Given the description of an element on the screen output the (x, y) to click on. 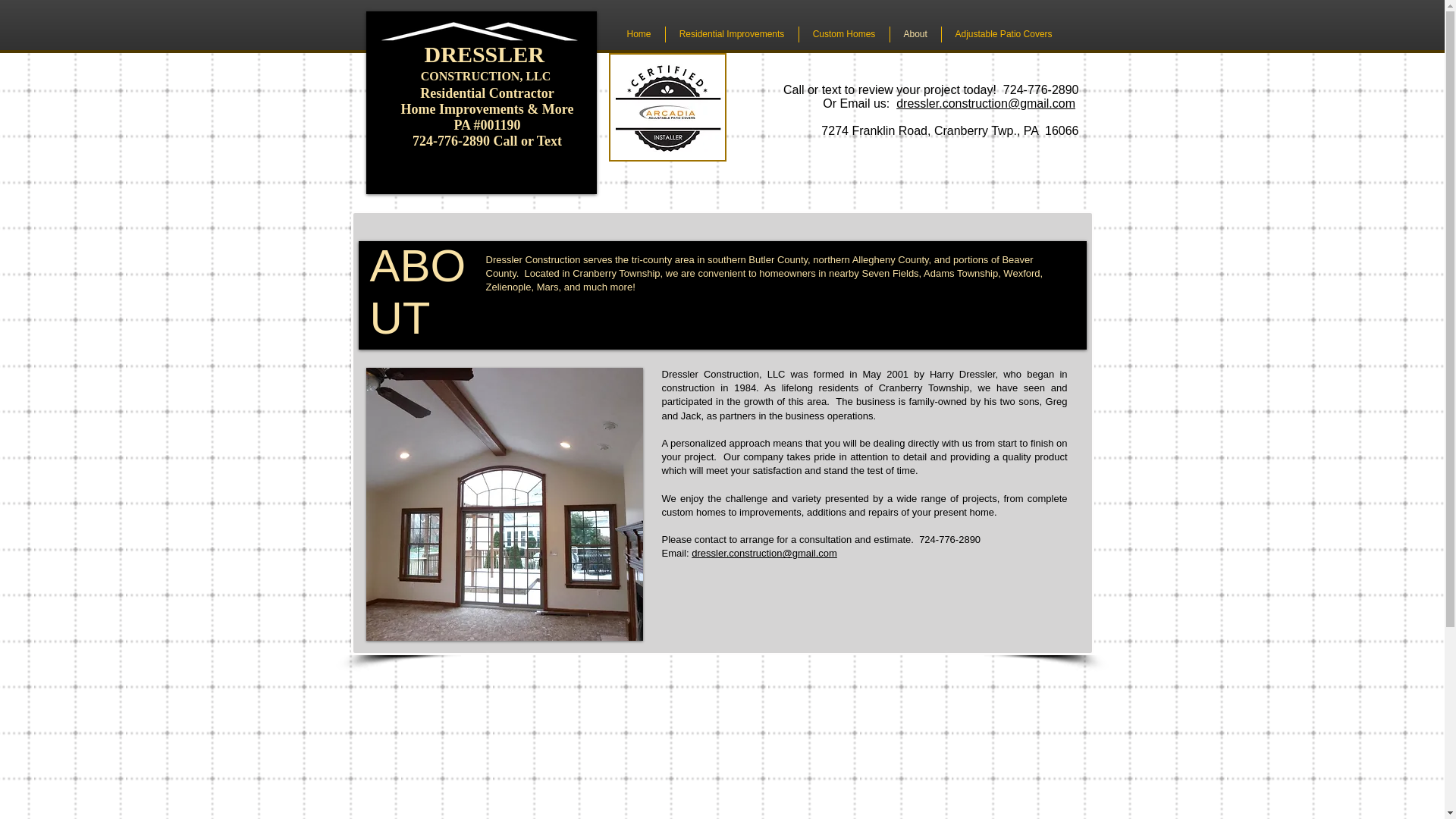
Facebook Like (699, 623)
About (914, 34)
Home (637, 34)
Custom Homes (844, 34)
Residential Improvements (731, 34)
Adjustable Patio Covers (1003, 34)
